Given the description of an element on the screen output the (x, y) to click on. 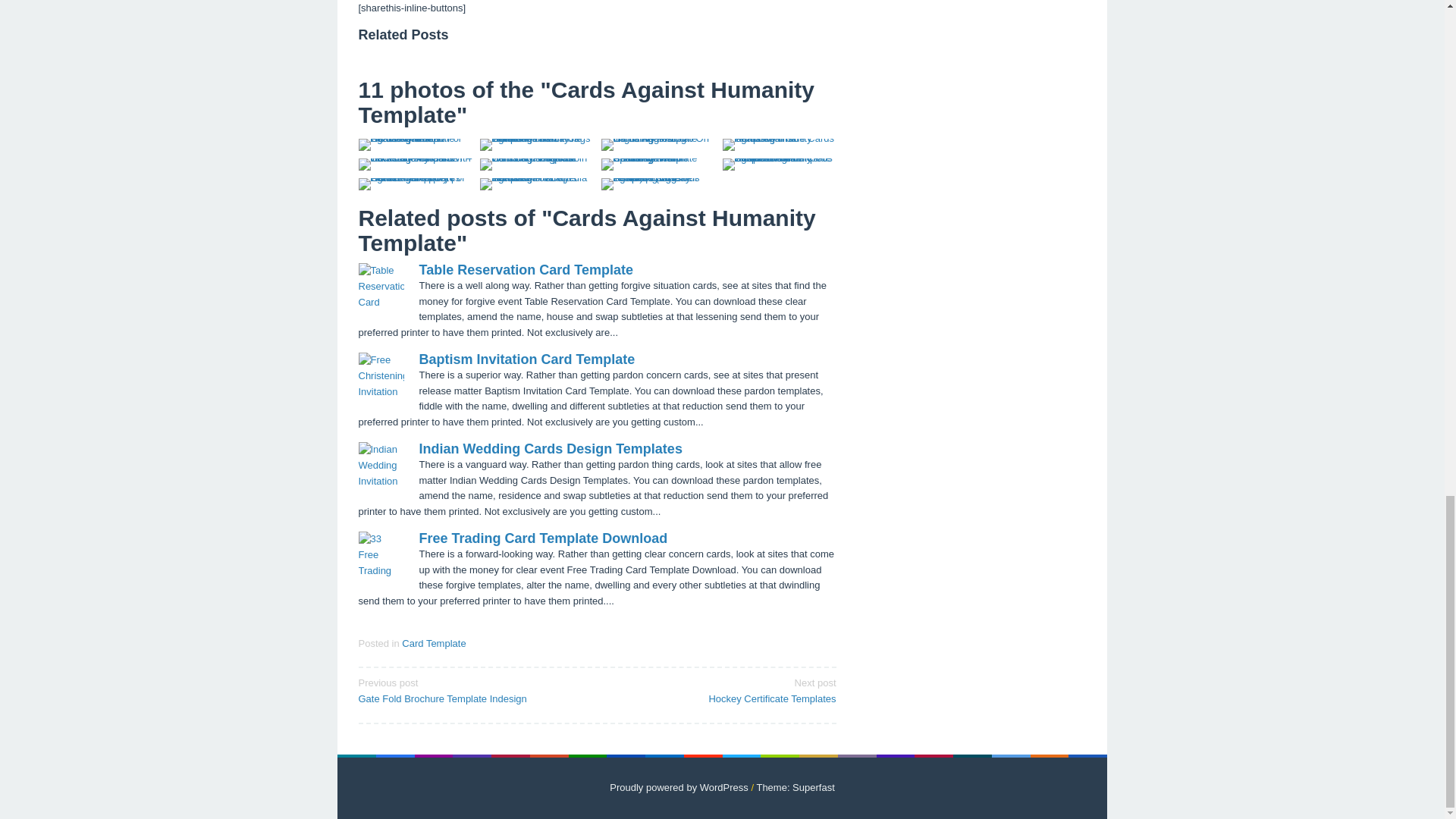
Table Reservation Card Template (525, 269)
Card Template (433, 643)
Free Trading Card Template Download (542, 538)
Baptism Invitation Card Template (721, 689)
Indian Wedding Cards Design Templates (526, 359)
